Given the description of an element on the screen output the (x, y) to click on. 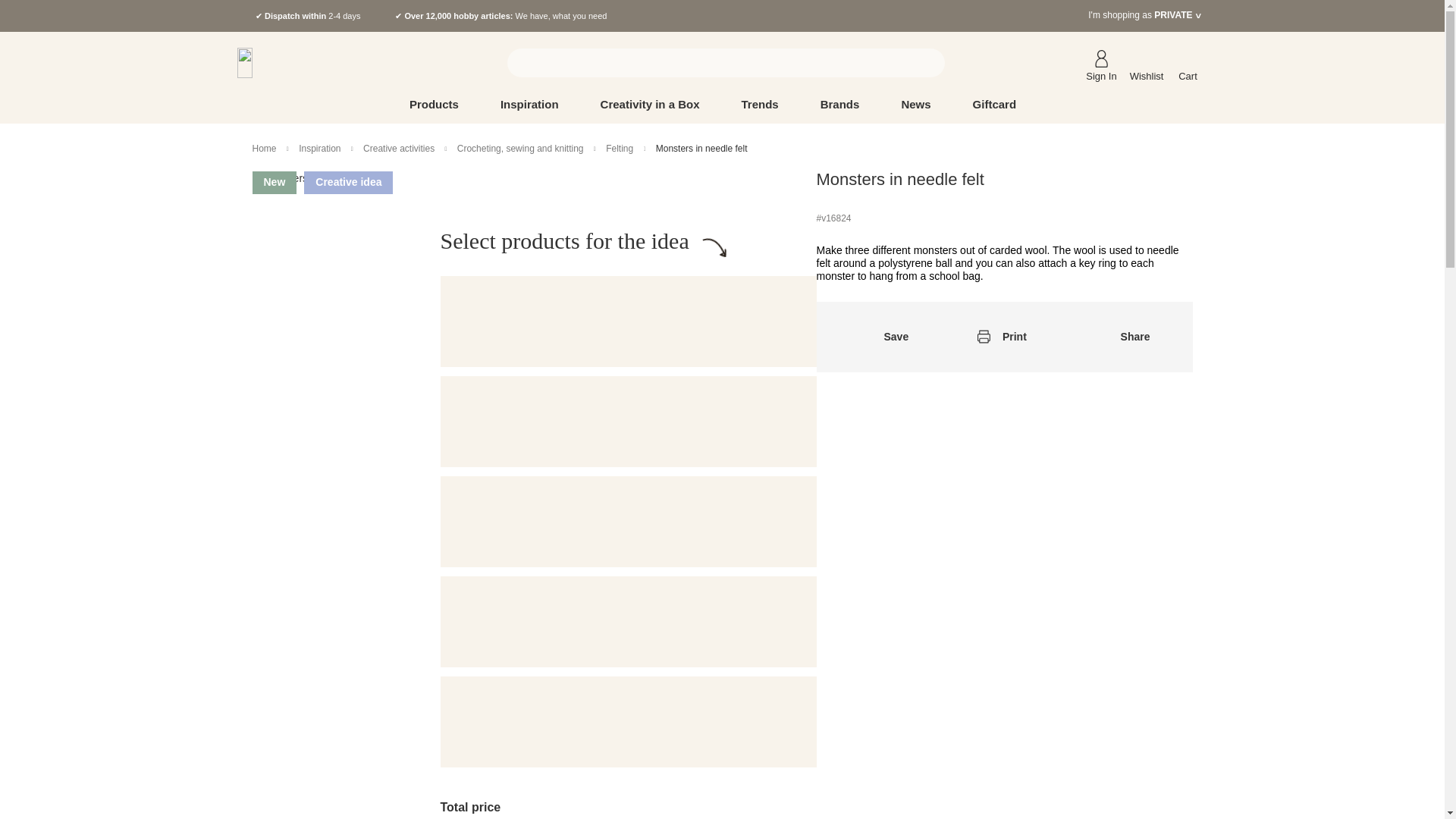
Products (443, 104)
Creative activities  (399, 148)
Wishlist (1146, 62)
Wishlist (1146, 62)
Go to Home Page (263, 148)
Felting (619, 148)
Search (923, 62)
Crocheting, sewing and knitting (520, 148)
Inspiration (319, 148)
